Given the description of an element on the screen output the (x, y) to click on. 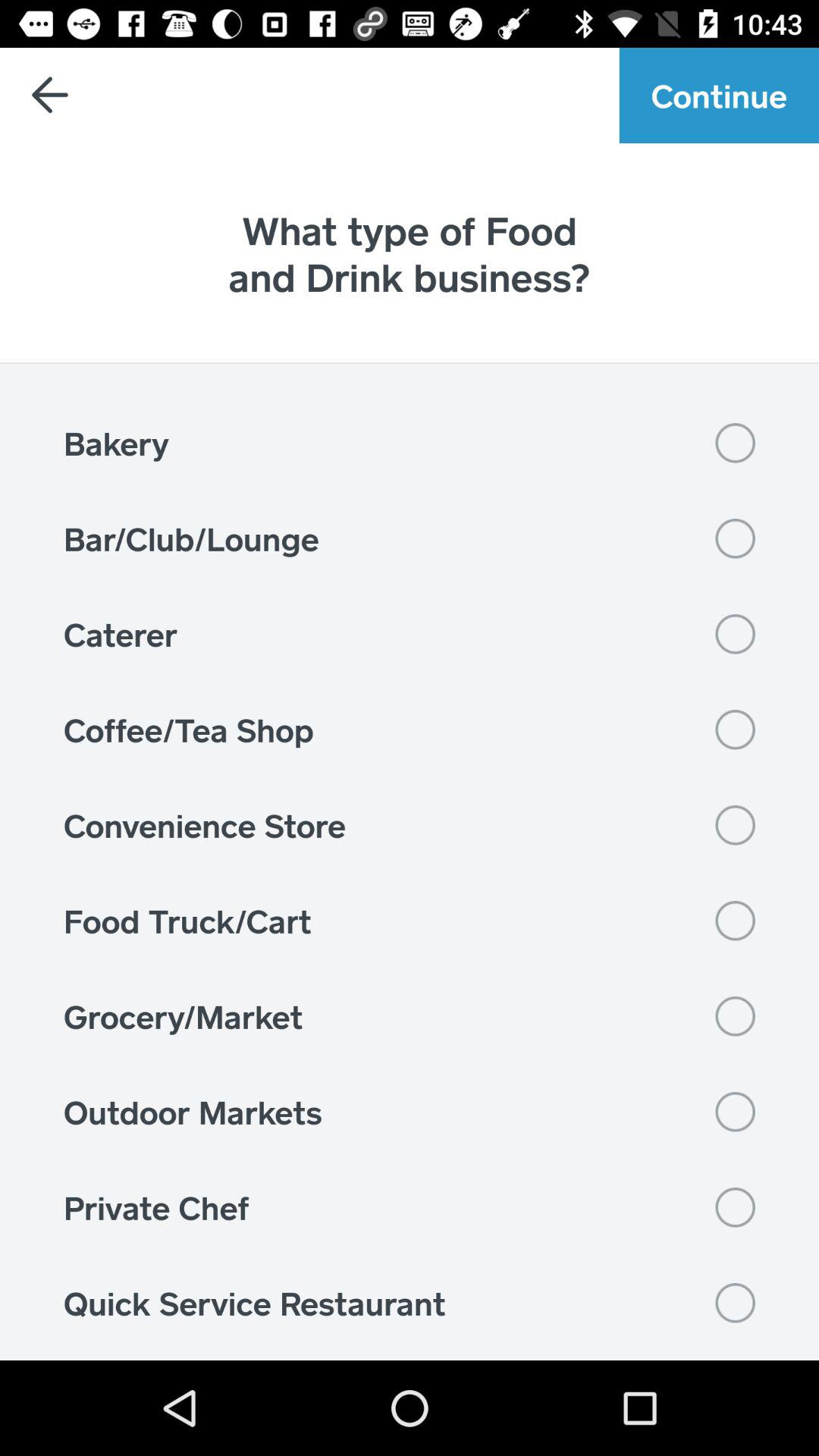
swipe to quick service restaurant item (409, 1302)
